Given the description of an element on the screen output the (x, y) to click on. 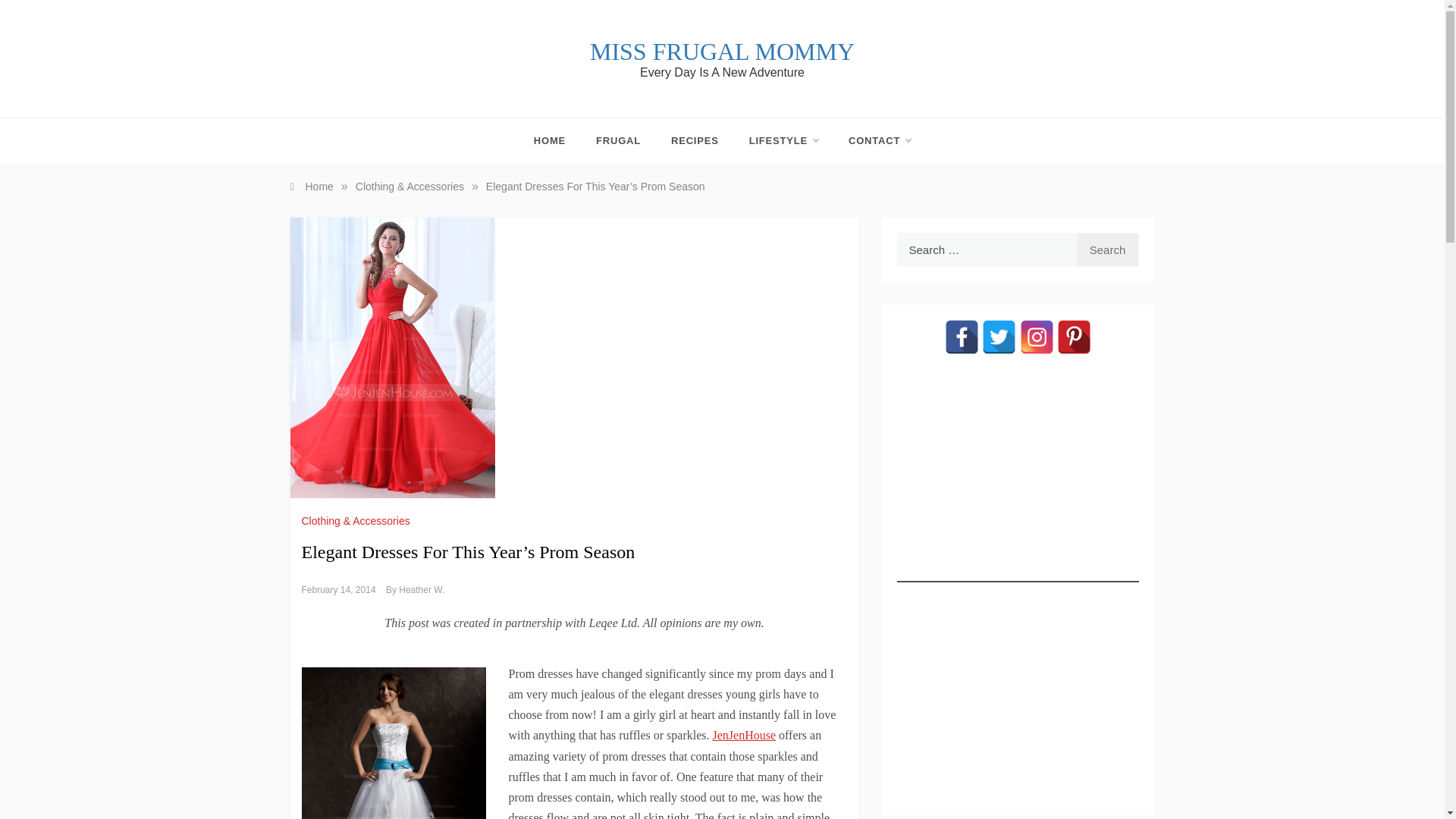
Search (1107, 249)
MISS FRUGAL MOMMY (721, 51)
Home (311, 186)
LIFESTYLE (782, 140)
FRUGAL (618, 140)
Pinterest (1073, 336)
CONTACT (871, 140)
Heather W. (421, 589)
Search (1107, 249)
February 14, 2014 (338, 589)
JenJenHouse (743, 735)
RECIPES (694, 140)
Twitter (998, 336)
Facebook (961, 336)
Advertisement (1017, 687)
